Given the description of an element on the screen output the (x, y) to click on. 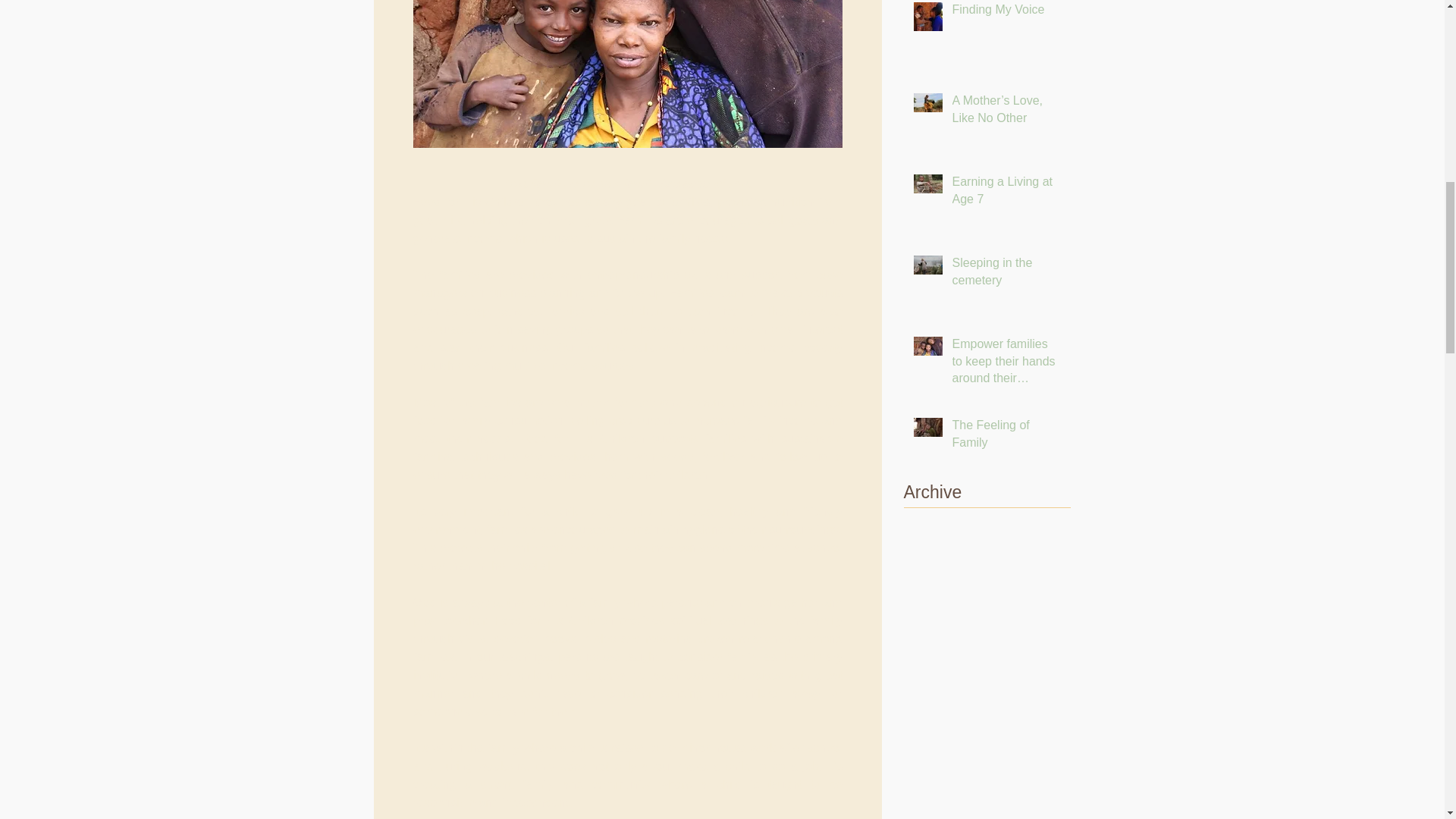
Sleeping in the cemetery (1006, 274)
Empower families to keep their hands around their children (1006, 364)
The Feeling of Family (1006, 436)
Earning a Living at Age 7 (1006, 193)
Finding My Voice (1006, 12)
